Given the description of an element on the screen output the (x, y) to click on. 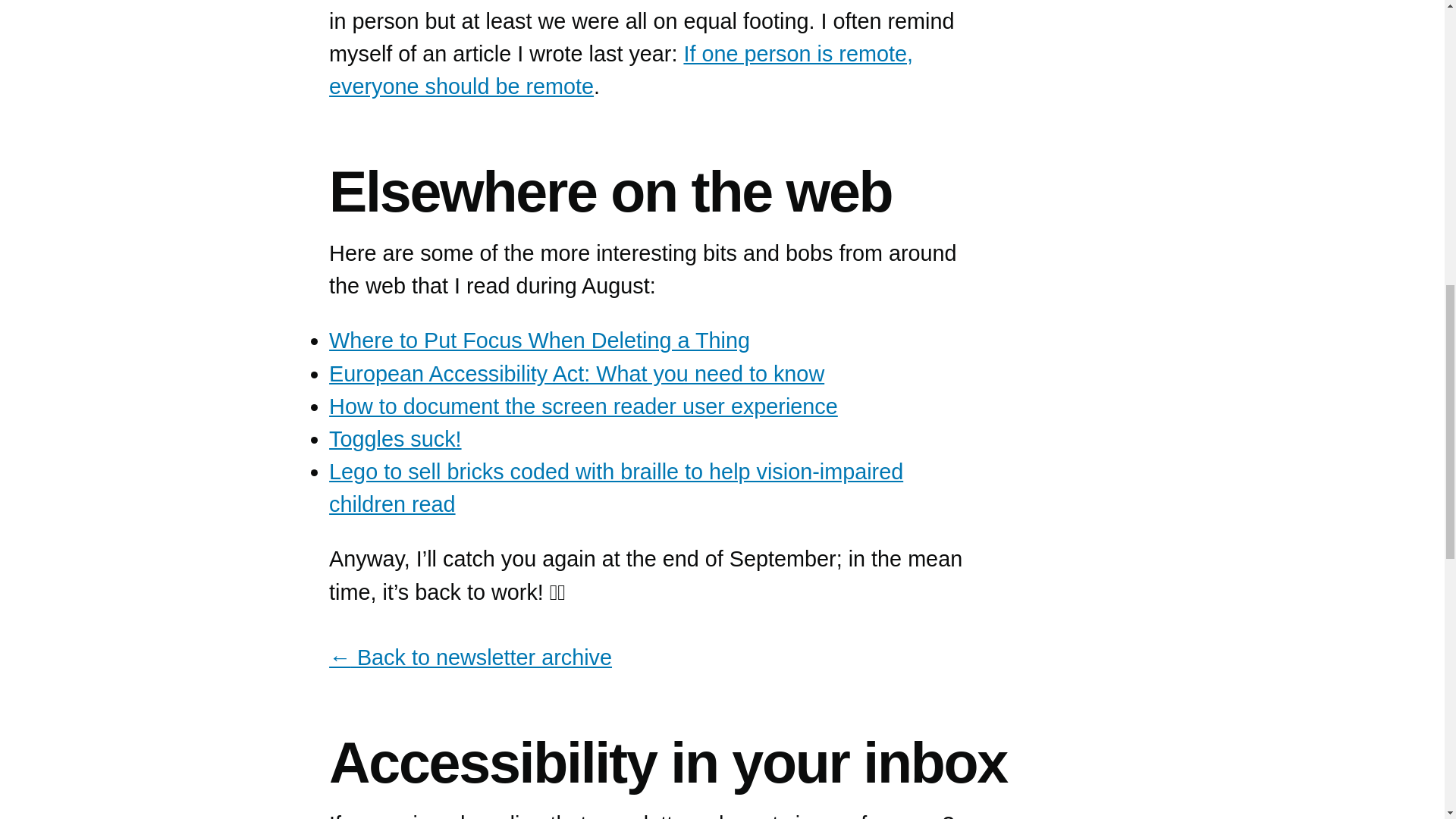
If one person is remote, everyone should be remote (620, 67)
European Accessibility Act: What you need to know (576, 373)
How to document the screen reader user experience (583, 405)
Where to Put Focus When Deleting a Thing (539, 340)
Toggles suck! (395, 438)
